Given the description of an element on the screen output the (x, y) to click on. 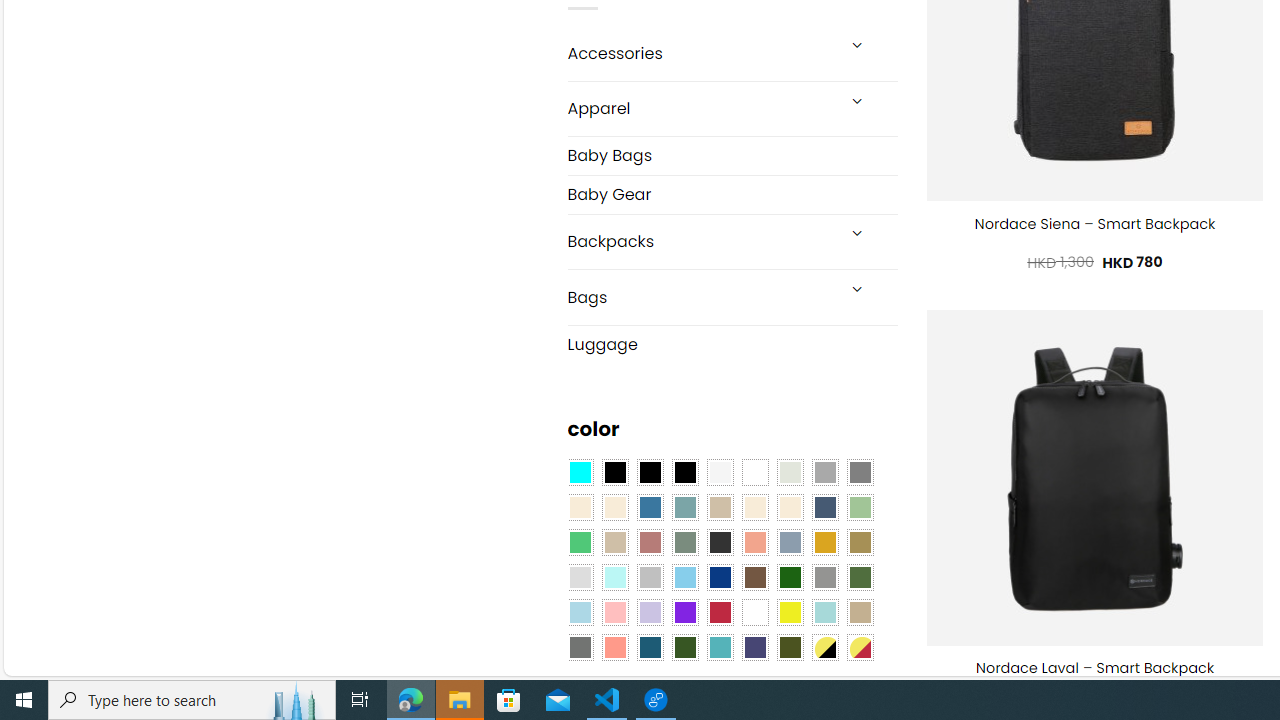
All Black (614, 473)
Army Green (789, 647)
Backpacks (700, 241)
Light Blue (579, 612)
Light Green (859, 508)
Yellow (789, 612)
Light Purple (650, 612)
Black (650, 473)
Dusty Blue (789, 542)
Dark Gray (824, 473)
Red (719, 612)
Navy Blue (719, 578)
Blue Sage (684, 508)
Gold (824, 542)
